Given the description of an element on the screen output the (x, y) to click on. 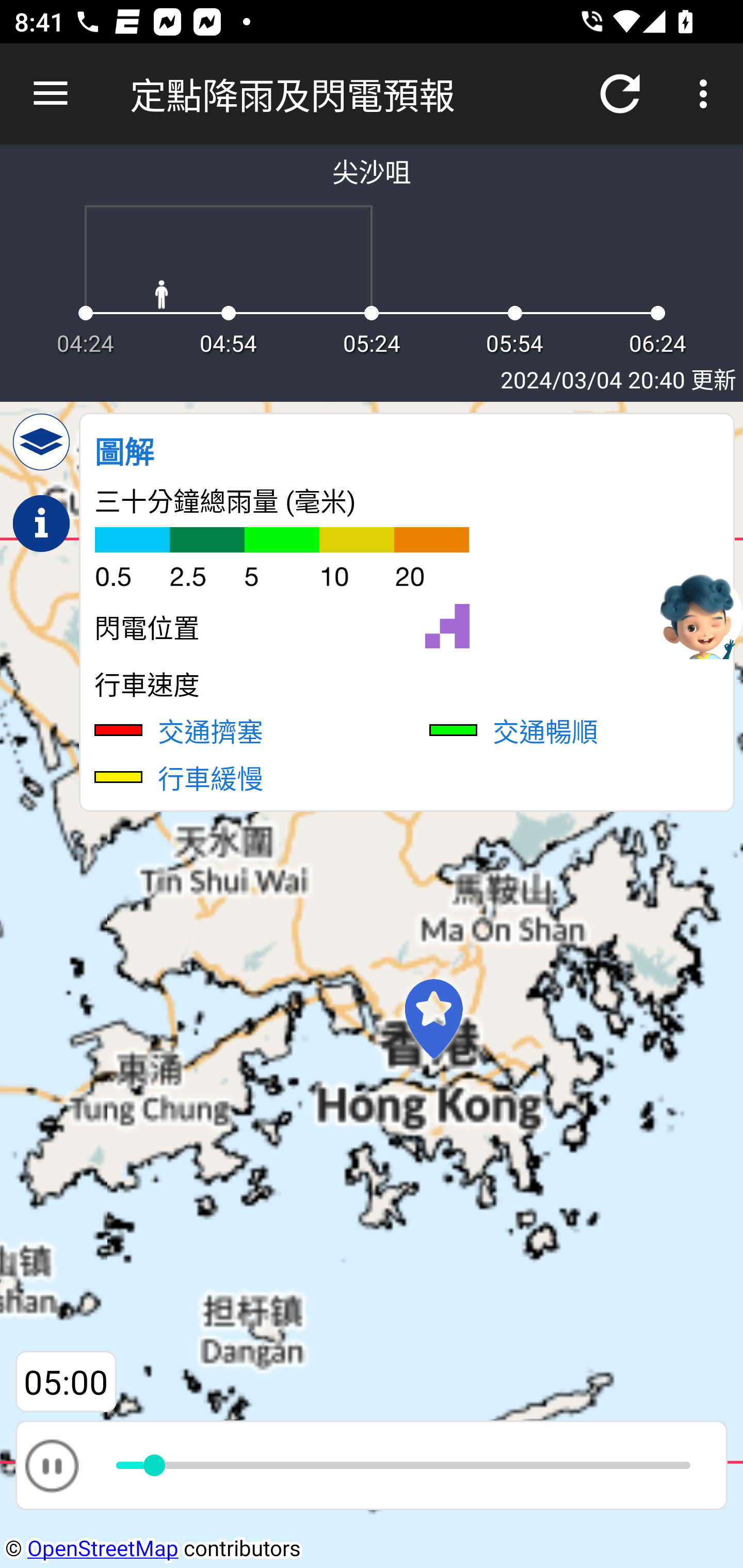
向上瀏覽 (50, 93)
重新整理 (619, 93)
更多選項 (706, 93)
選擇 圖層 (40, 441)
圖解 三十分鐘總雨量 (毫米) 降雨圖解 閃電位置 行車速度 交通擠塞 交通暢順 行車緩慢 (406, 612)
已選擇 說明 (40, 523)
聊天機械人 (699, 614)
04:54 (65, 1381)
暫停 0.0 (371, 1464)
暫停 (50, 1464)
